Given the description of an element on the screen output the (x, y) to click on. 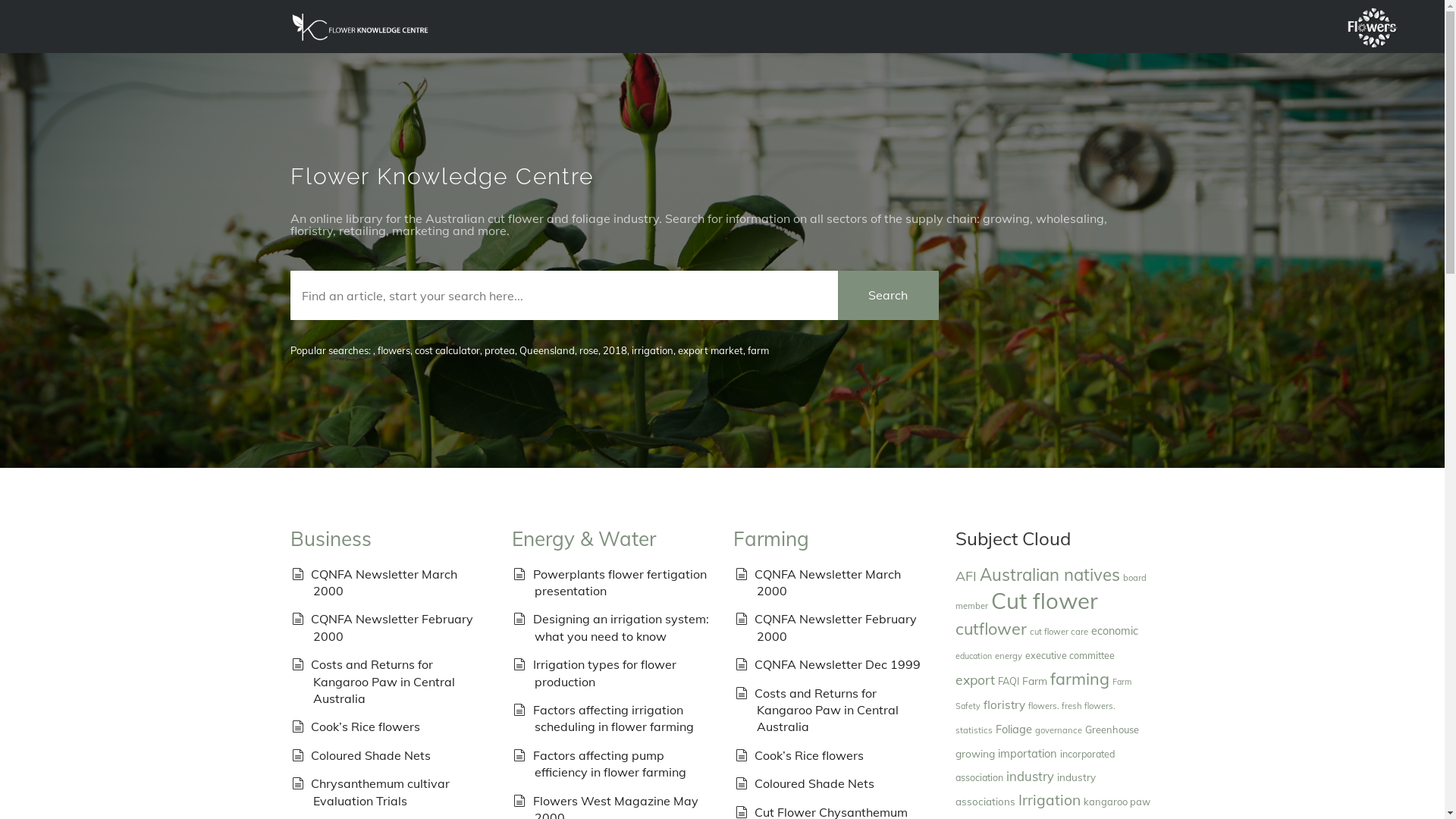
incorporated association Element type: text (1034, 765)
protea Element type: text (498, 350)
CQNFA Newsletter Dec 1999 Element type: text (837, 663)
rose Element type: text (588, 350)
farming Element type: text (1079, 678)
executive committee Element type: text (1069, 655)
Search Element type: text (887, 295)
irrigation Element type: text (651, 350)
flowers. fresh flowers. statistics Element type: text (1035, 717)
Irrigation Element type: text (1049, 799)
Factors affecting irrigation scheduling in flower farming Element type: text (613, 718)
Cut flower Element type: text (1044, 600)
Chrysanthemum cultivar Evaluation Trials Element type: text (379, 791)
Factors affecting pump efficiency in flower farming Element type: text (609, 763)
Greenhouse Element type: text (1112, 729)
cutflower Element type: text (990, 628)
Costs and Returns for Kangaroo Paw in Central Australia Element type: text (825, 709)
2018 Element type: text (614, 350)
cut flower care Element type: text (1058, 631)
Farm Safety Element type: text (1043, 693)
Costs and Returns for Kangaroo Paw in Central Australia Element type: text (382, 681)
importation Element type: text (1027, 753)
energy Element type: text (1008, 655)
Business Element type: text (329, 538)
industry associations Element type: text (1025, 789)
Farm Element type: text (1034, 680)
kangaroo paw Element type: text (1116, 801)
CQNFA Newsletter February 2000 Element type: text (391, 627)
Powerplants flower fertigation presentation Element type: text (619, 582)
CQNFA Newsletter March 2000 Element type: text (383, 582)
CQNFA Newsletter March 2000 Element type: text (827, 582)
farm Element type: text (757, 350)
Designing an irrigation system: what you need to know Element type: text (621, 627)
flowers Element type: text (393, 350)
governance Element type: text (1058, 729)
industry Element type: text (1030, 776)
cost calculator Element type: text (446, 350)
export Element type: text (974, 679)
Queensland Element type: text (546, 350)
CQNFA Newsletter February 2000 Element type: text (835, 627)
export market Element type: text (710, 350)
floristry Element type: text (1004, 704)
economic Element type: text (1114, 630)
Irrigation types for flower production Element type: text (604, 672)
education Element type: text (973, 655)
Foliage Element type: text (1013, 728)
Coloured Shade Nets Element type: text (814, 782)
growing Element type: text (974, 752)
board member Element type: text (1050, 591)
FAQI Element type: text (1008, 680)
AFI Element type: text (965, 575)
Coloured Shade Nets Element type: text (370, 754)
Australian natives Element type: text (1049, 574)
Farming Element type: text (771, 538)
Energy & Water Element type: text (583, 538)
